Given the description of an element on the screen output the (x, y) to click on. 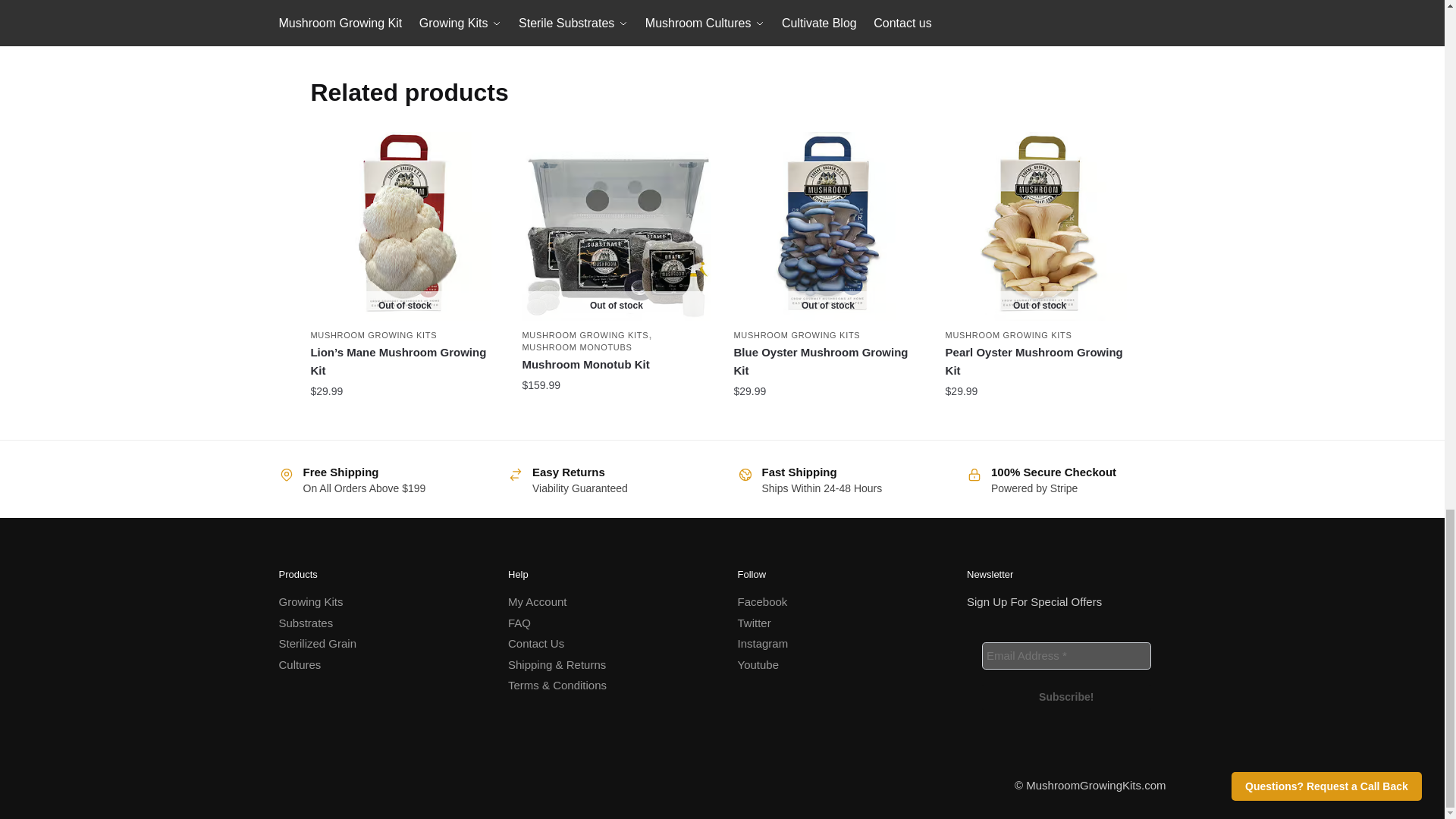
Email Address (1066, 655)
Subscribe! (1066, 697)
